Given the description of an element on the screen output the (x, y) to click on. 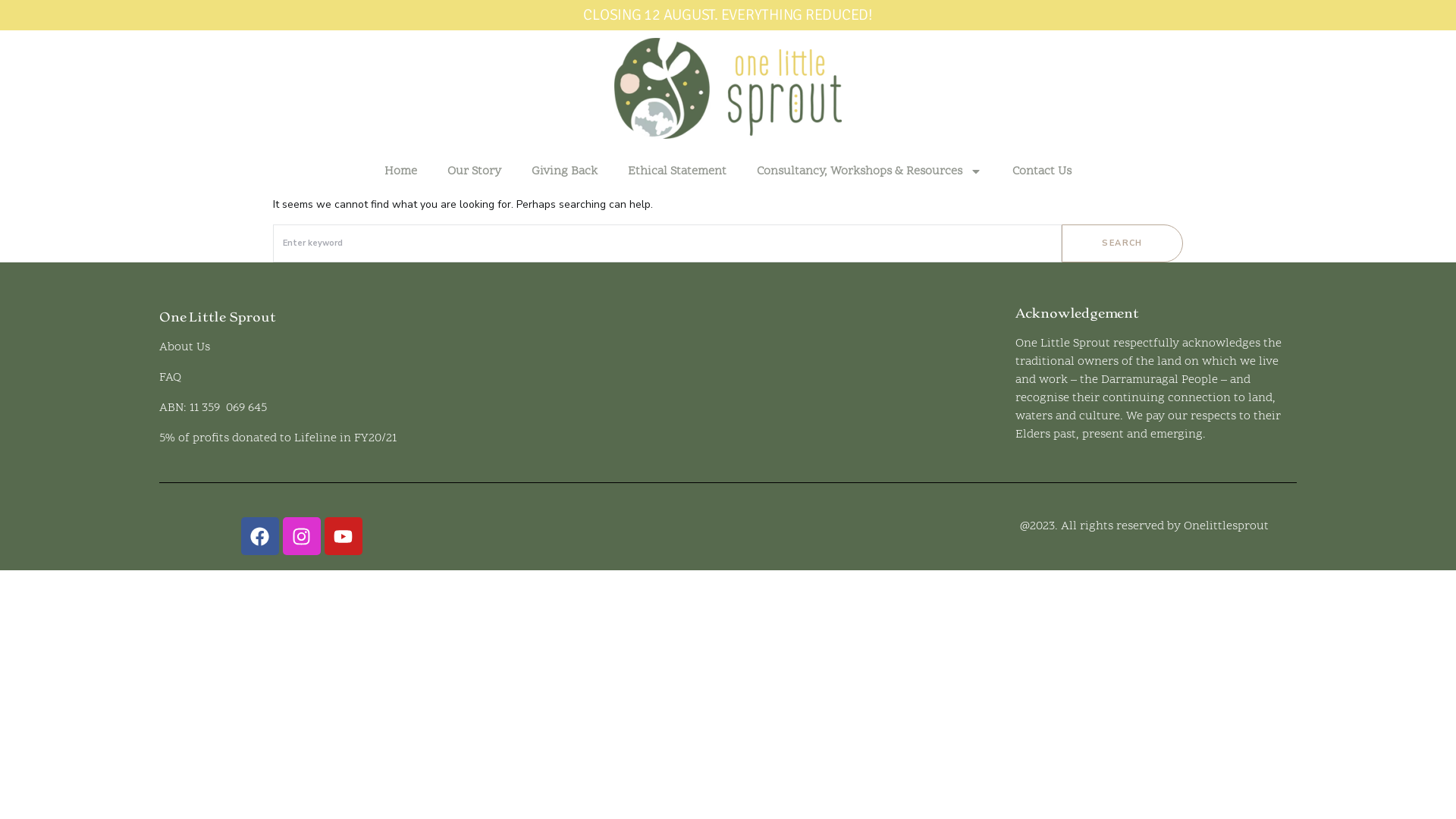
FAQ Element type: text (170, 377)
Giving Back Element type: text (564, 170)
ABN: 11 359  069 645 Element type: text (212, 407)
Home Element type: text (400, 170)
Our Story Element type: text (474, 170)
Consultancy, Workshops & Resources Element type: text (869, 170)
Contact Us Element type: text (1041, 170)
About Us Element type: text (184, 346)
Ethical Statement Element type: text (676, 170)
SEARCH Element type: text (1122, 243)
